Given the description of an element on the screen output the (x, y) to click on. 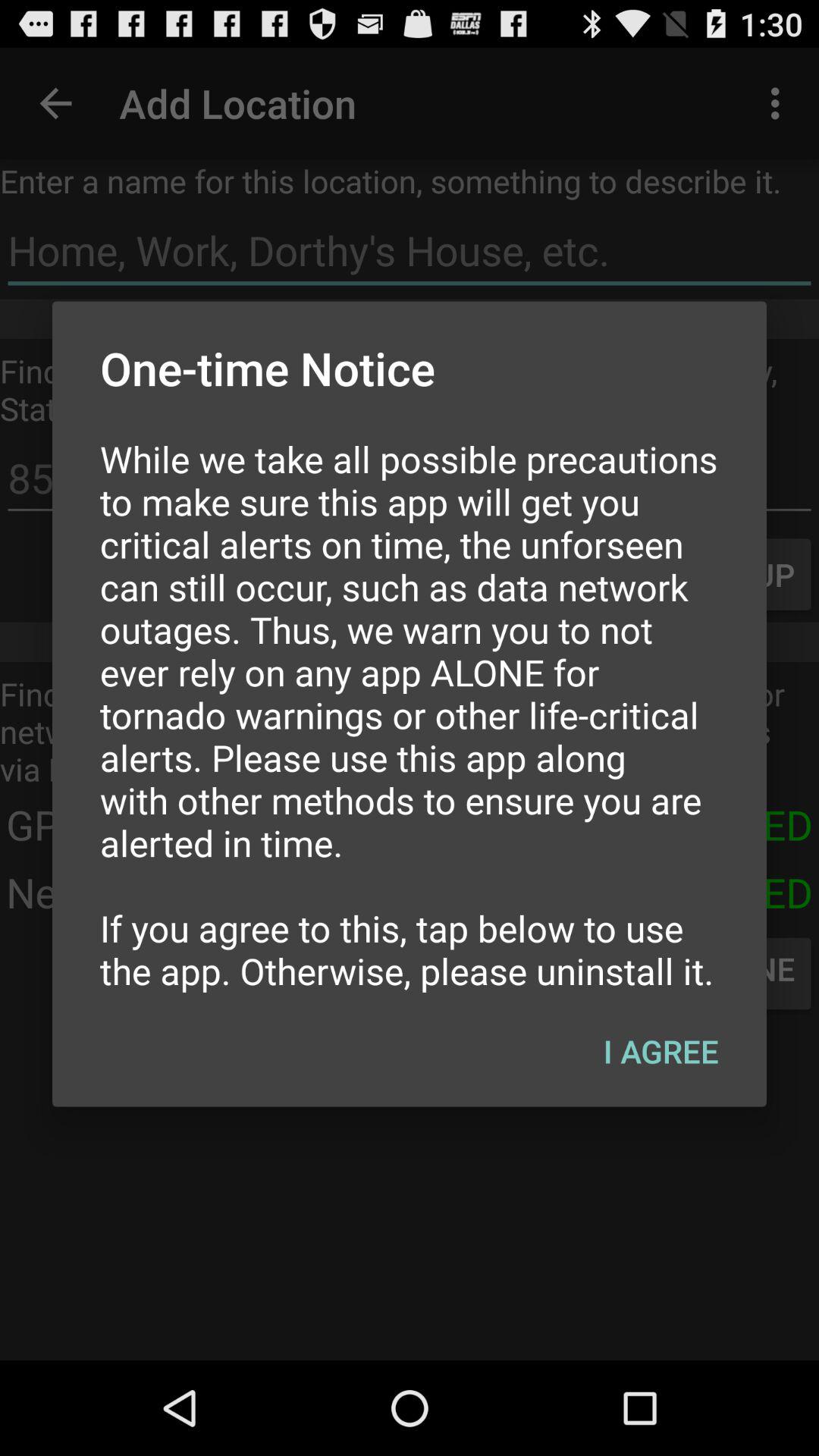
press the i agree icon (660, 1050)
